Given the description of an element on the screen output the (x, y) to click on. 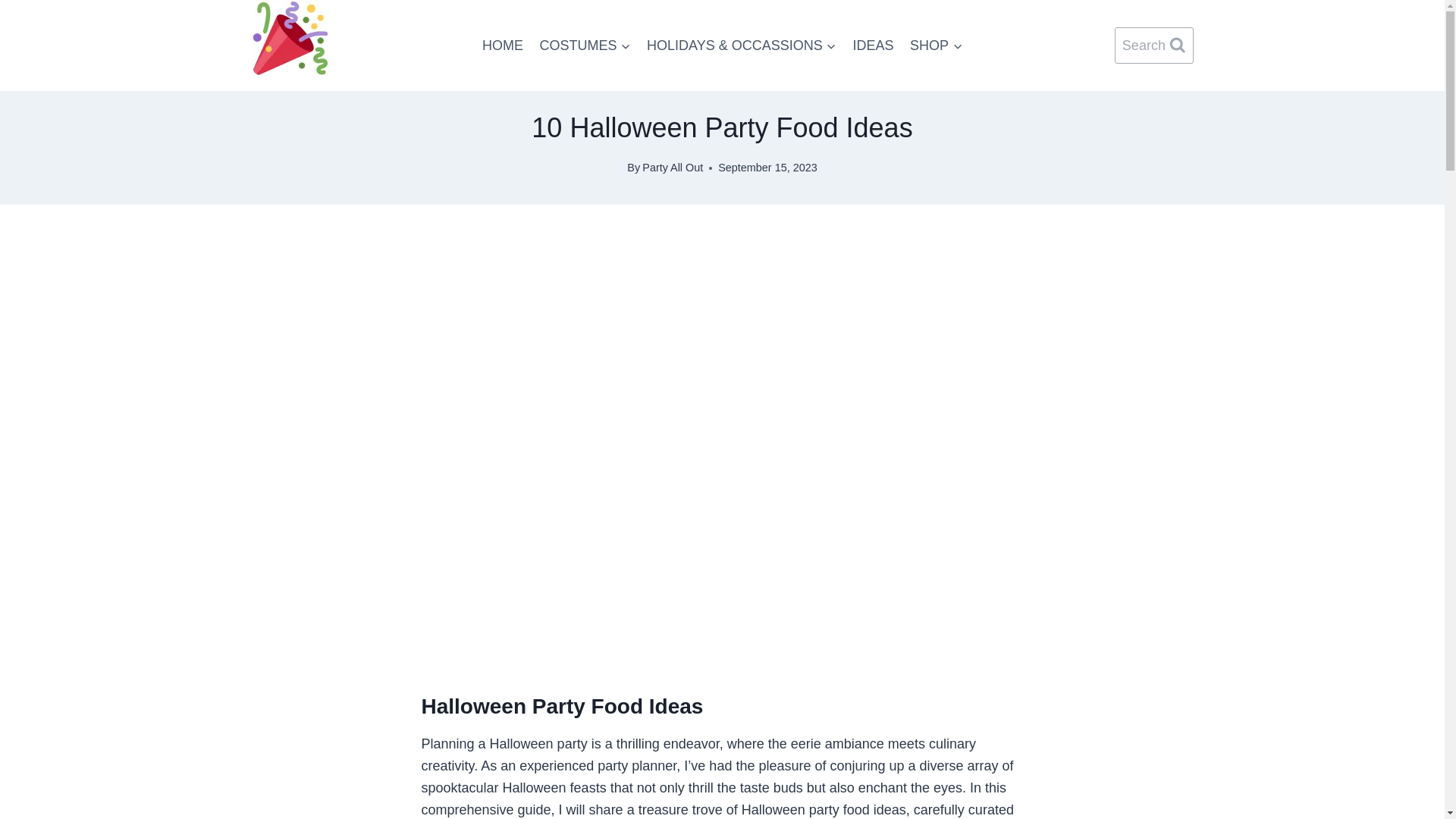
SHOP (936, 45)
Search (1154, 45)
HOME (502, 45)
IDEAS (873, 45)
COSTUMES (585, 45)
